Given the description of an element on the screen output the (x, y) to click on. 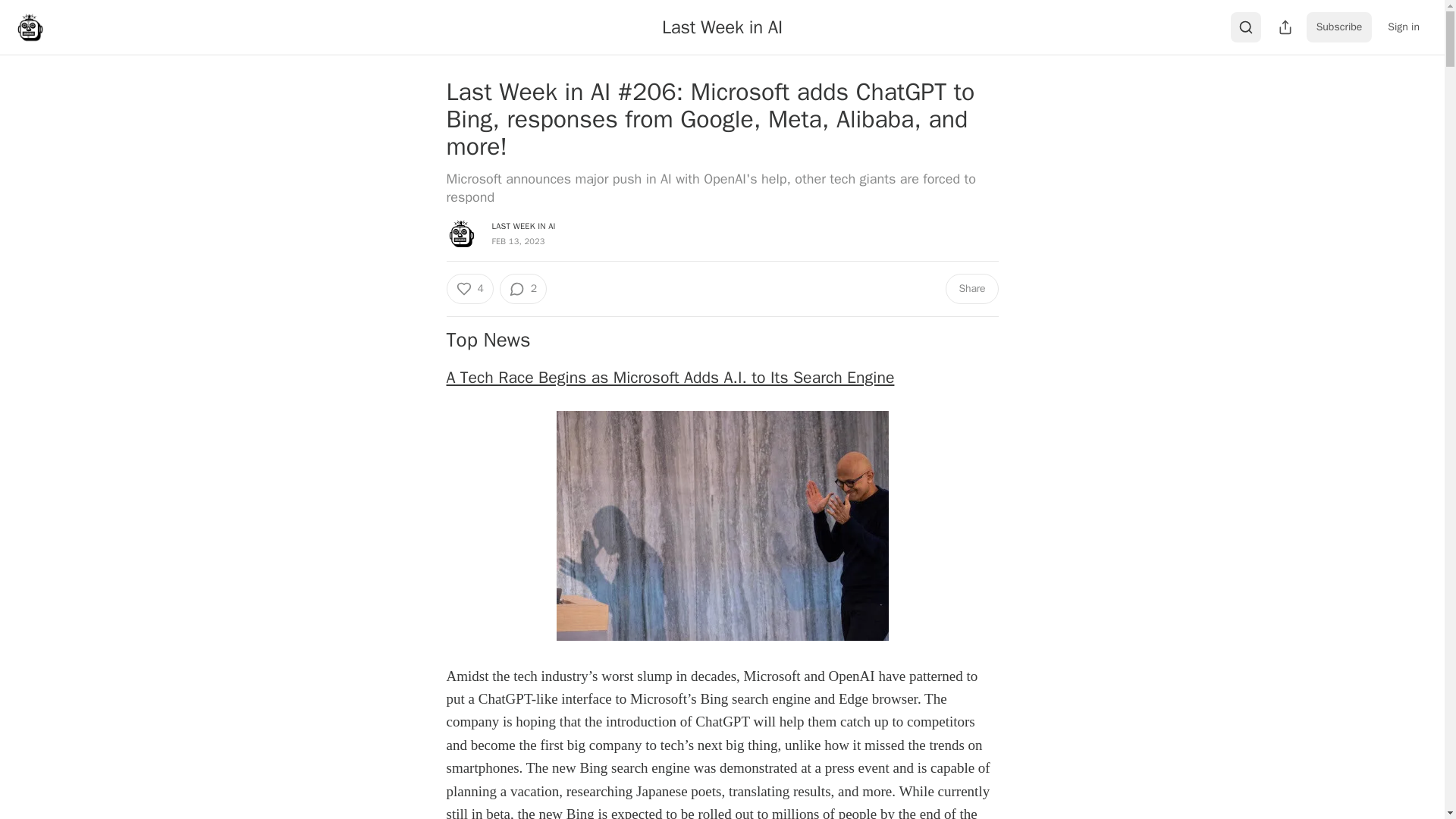
Last Week in AI (722, 26)
Sign in (1403, 27)
Subscribe (1339, 27)
4 (469, 288)
2 (523, 288)
LAST WEEK IN AI (523, 225)
Share (970, 288)
